Given the description of an element on the screen output the (x, y) to click on. 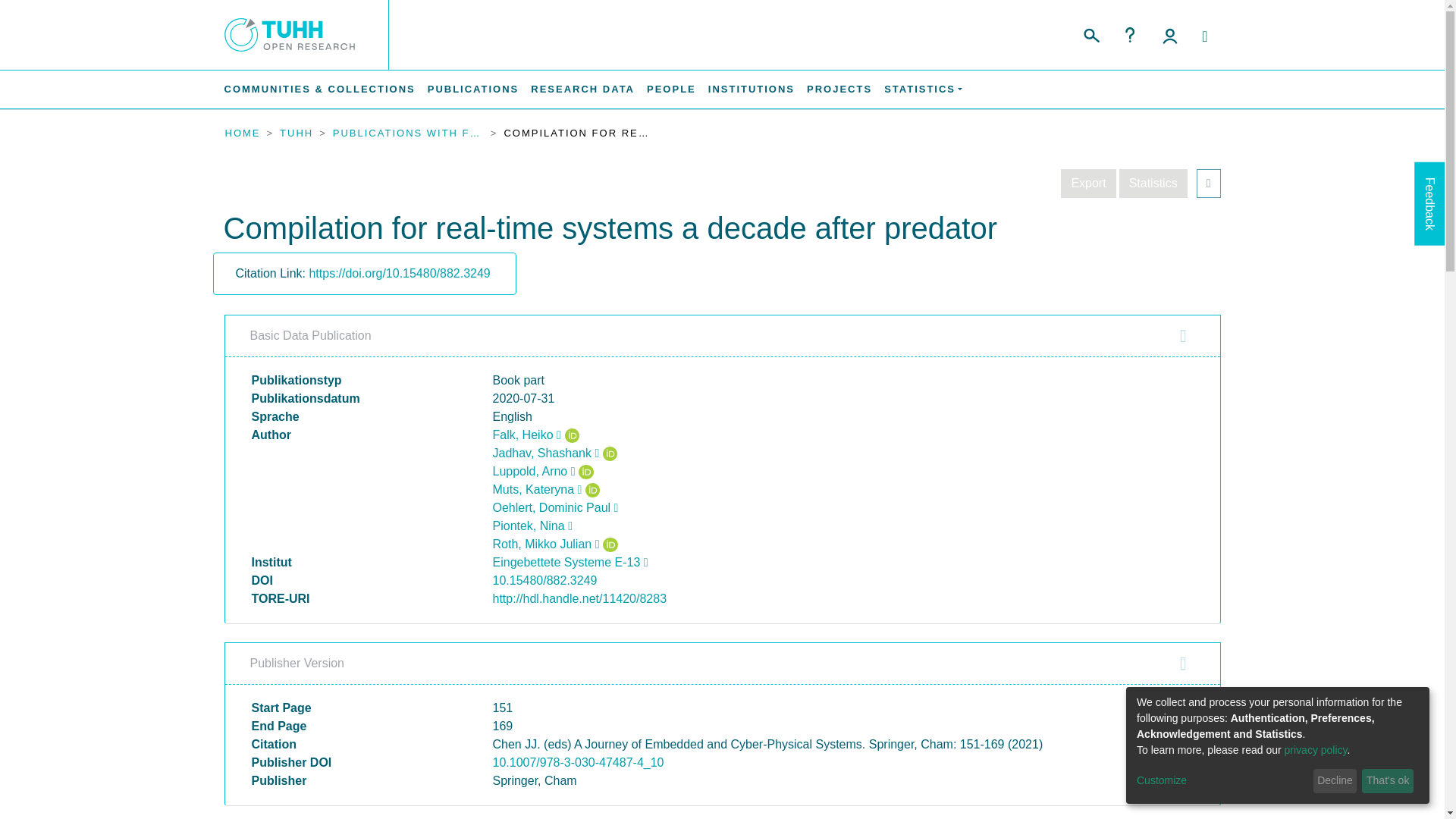
Jadhav, Shashank  (546, 452)
INSTITUTIONS (750, 89)
Language switch (1204, 36)
Institutions (750, 89)
Research Data (582, 89)
Piontek, Nina  (532, 525)
Help (1129, 34)
Muts, Kateryna  (537, 489)
Luppold, Arno  (534, 471)
Help (1129, 34)
